Given the description of an element on the screen output the (x, y) to click on. 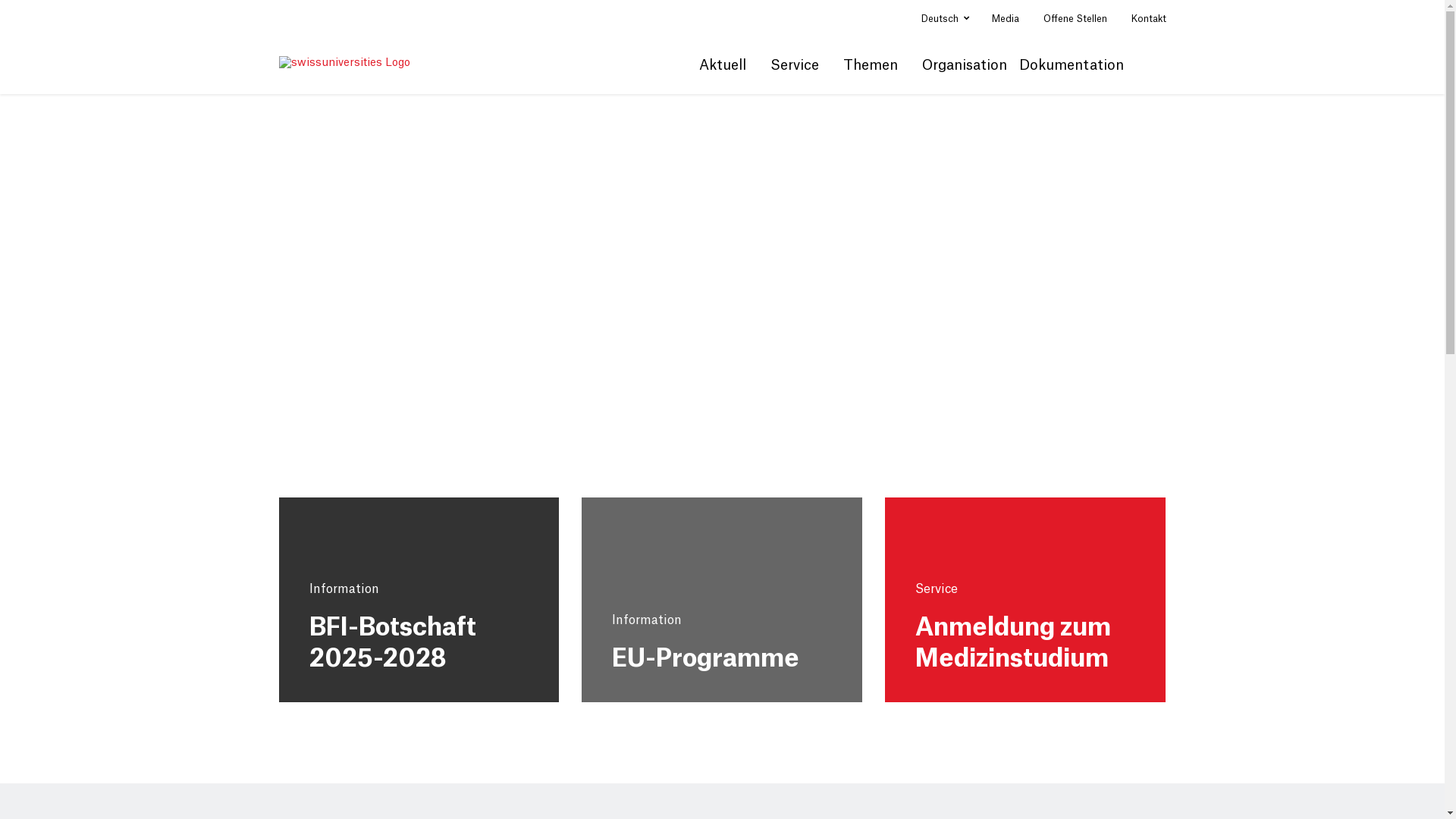
Organisation Element type: text (964, 75)
Themen Element type: text (870, 75)
Information Element type: text (646, 620)
Dokumentation Element type: text (1071, 75)
Deutsch Element type: text (944, 19)
Media Element type: text (1005, 18)
Offene Stellen Element type: text (1075, 18)
Service Element type: text (794, 75)
Service Element type: text (936, 589)
Kontakt Element type: text (1148, 18)
Information Element type: text (344, 589)
Die Dachorganisation der Schweizer Hochschulen Element type: hover (722, 272)
Aktuell Element type: text (722, 75)
Suche anzeigen Element type: text (1157, 64)
